Given the description of an element on the screen output the (x, y) to click on. 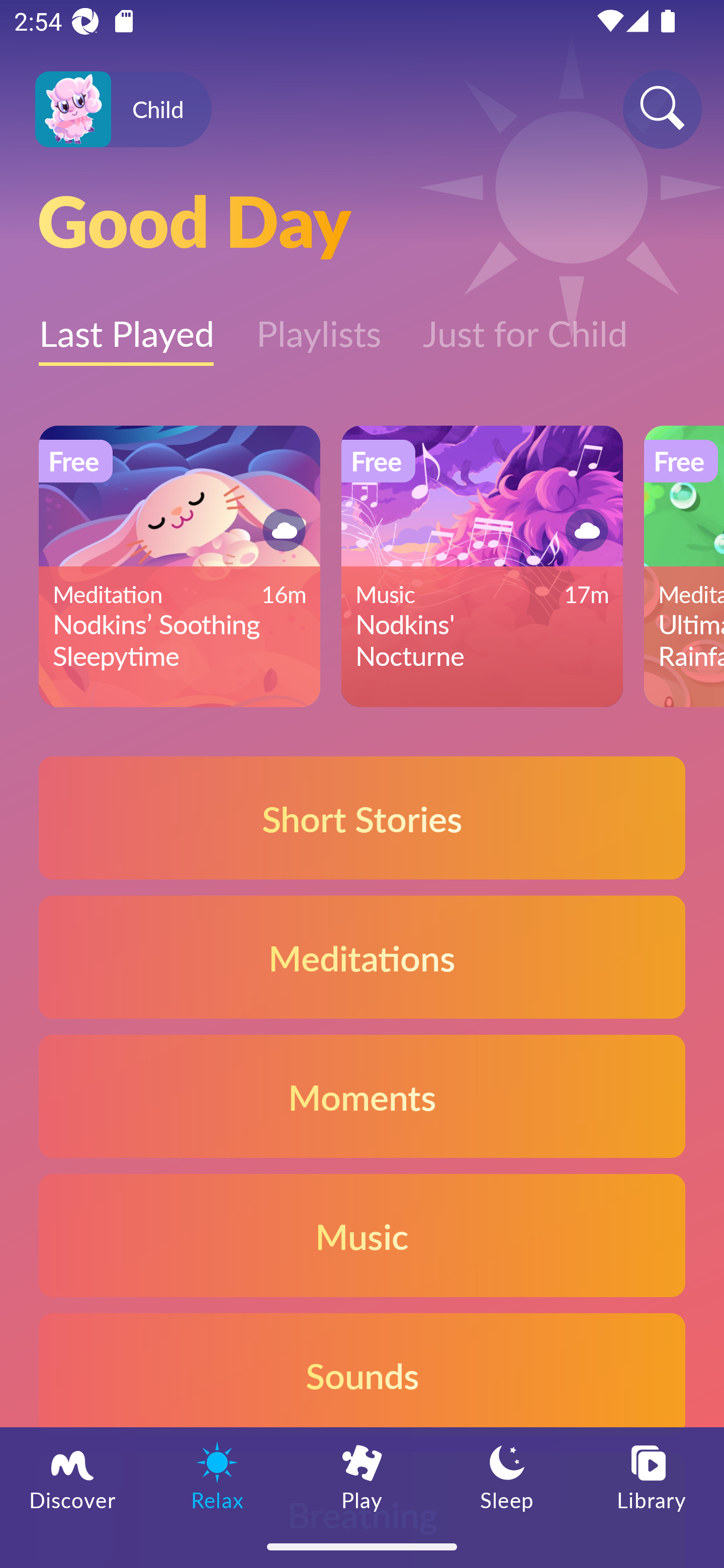
Profile icon Child (123, 109)
Playlists (317, 322)
Just for Child (524, 322)
Button (280, 529)
Button (583, 529)
Short Stories (361, 817)
Meditations (361, 957)
Moments (361, 1096)
Music (361, 1234)
Sounds (361, 1374)
Discover (72, 1475)
Play (361, 1475)
Sleep (506, 1475)
Library (651, 1475)
